Given the description of an element on the screen output the (x, y) to click on. 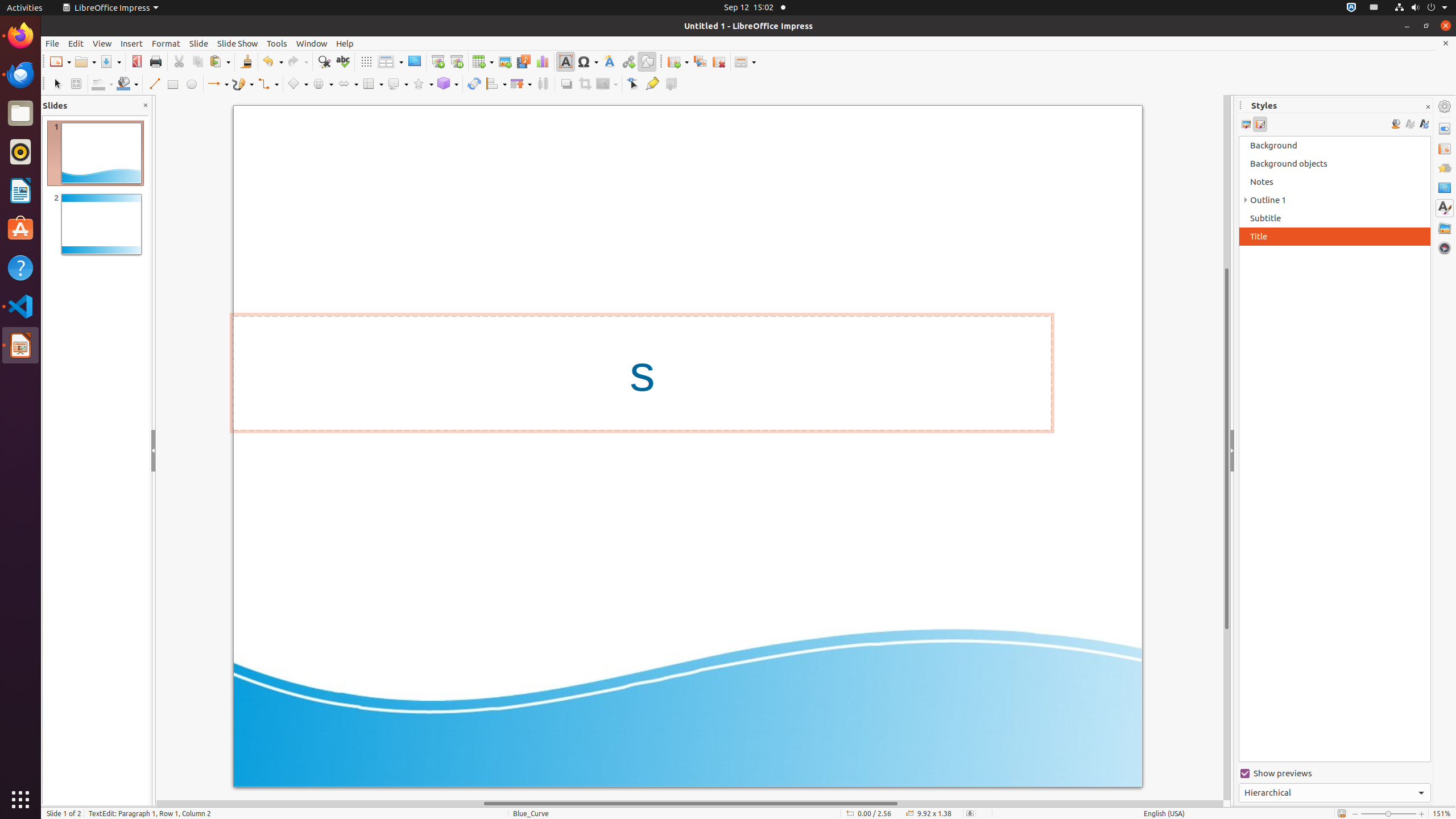
Show Applications Element type: toggle-button (20, 799)
Lines and Arrows Element type: push-button (217, 83)
Image Element type: push-button (504, 61)
New Element type: push-button (59, 61)
Properties Element type: radio-button (1444, 128)
